Given the description of an element on the screen output the (x, y) to click on. 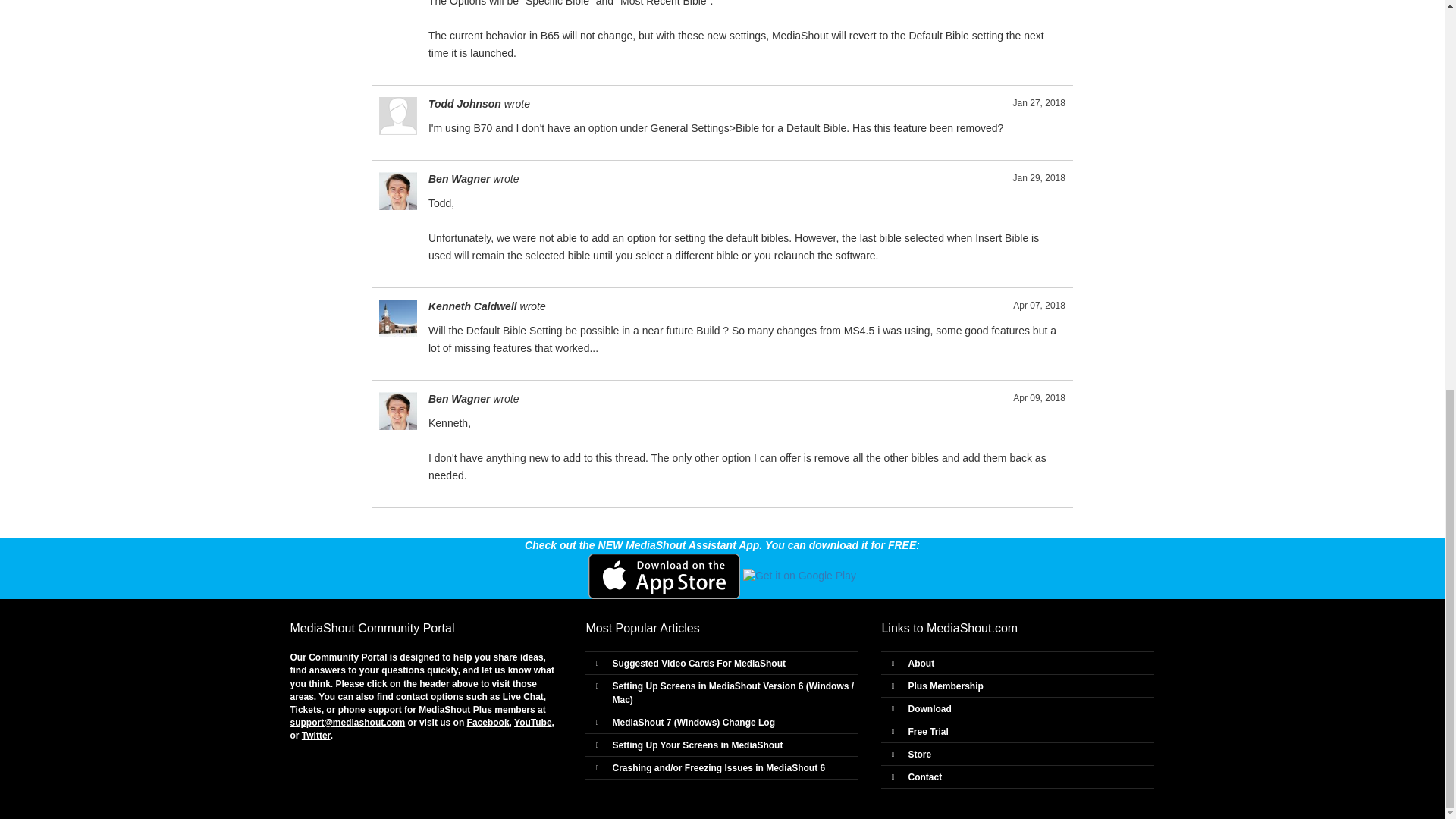
Download (928, 708)
About (920, 663)
Apr 07, 2018, 06:44 PM (1039, 305)
Facebook (488, 722)
Avatar image (397, 318)
Live Chat (522, 696)
YouTube (532, 722)
Store (919, 754)
Free Trial (927, 731)
Contact (924, 777)
